Given the description of an element on the screen output the (x, y) to click on. 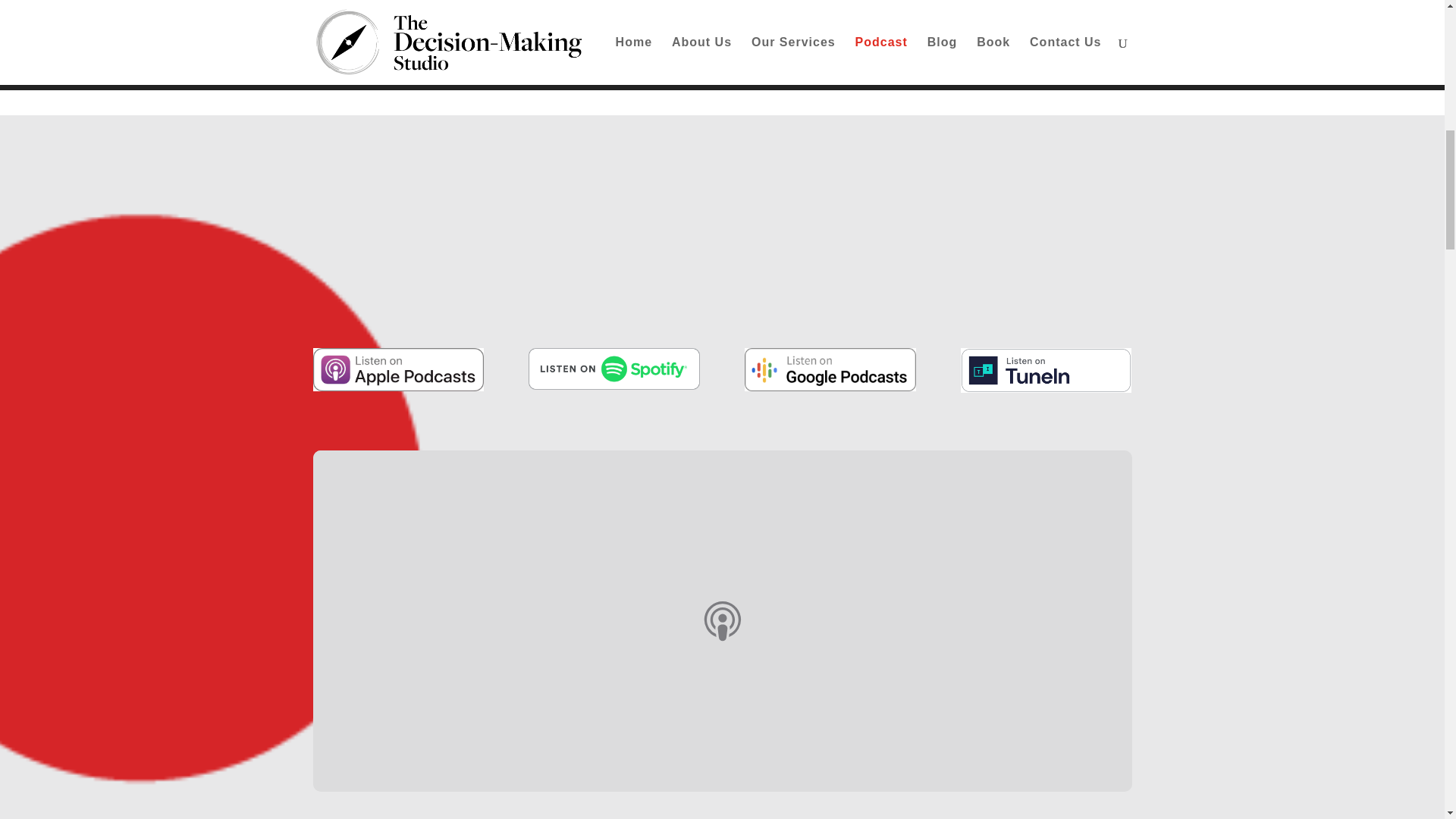
apple-podcast-logo (398, 370)
listen-on-spotify (613, 368)
Tunein (1045, 370)
google-podcasts-logo-transparent (829, 369)
